Given the description of an element on the screen output the (x, y) to click on. 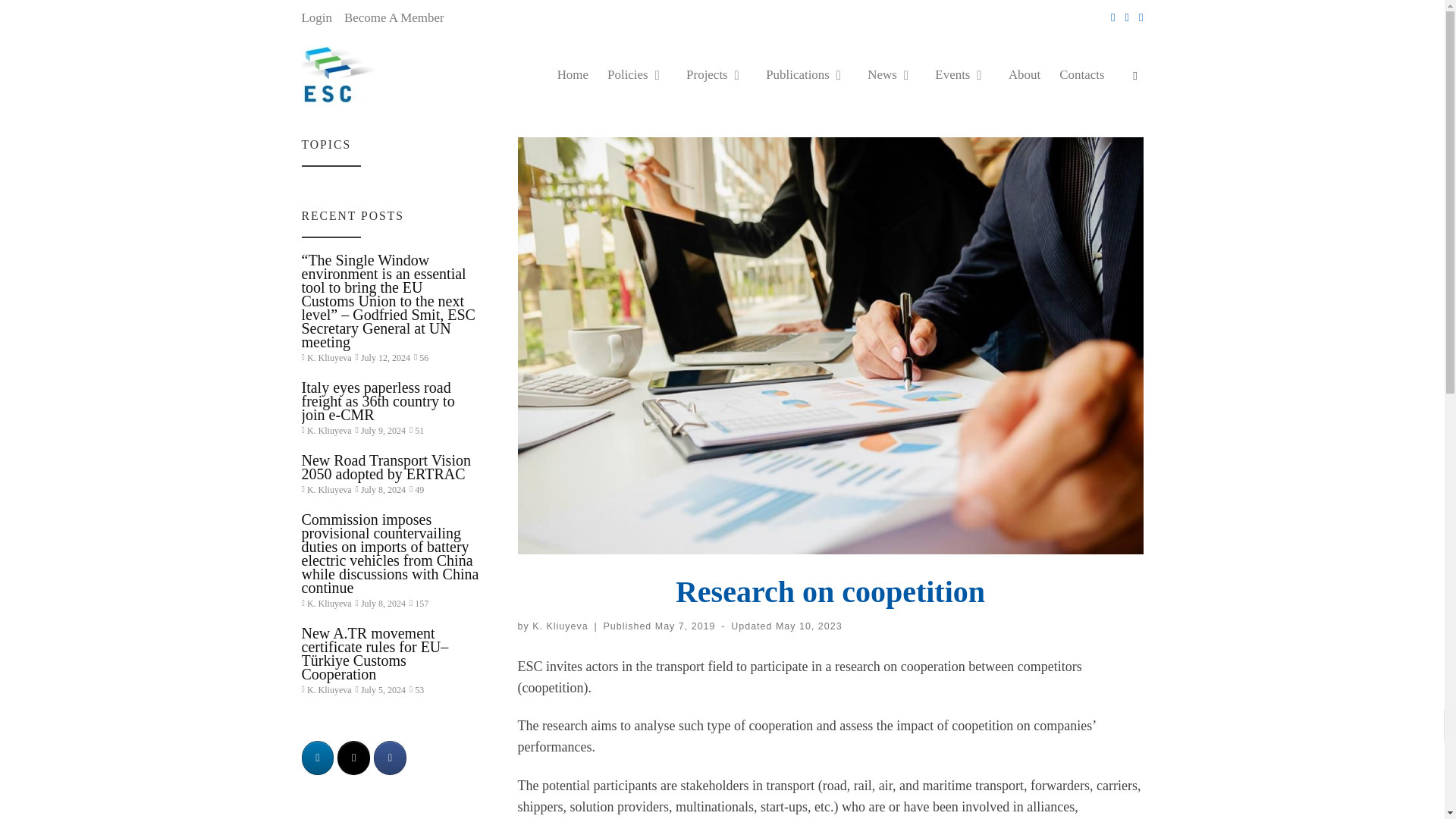
News (892, 74)
Home (571, 74)
View all posts by K. Kliuyeva (560, 625)
Publications (807, 74)
Follow us on Twitter (1127, 17)
ESC on Linkedin (317, 757)
Follow us on Linkedin (1112, 17)
09:27 (685, 625)
Policies (637, 74)
Projects (716, 74)
Login (316, 18)
Skip to content (57, 20)
ESC on X Twitter (353, 757)
Become A Member (393, 18)
ESC on Facebook (390, 757)
